Given the description of an element on the screen output the (x, y) to click on. 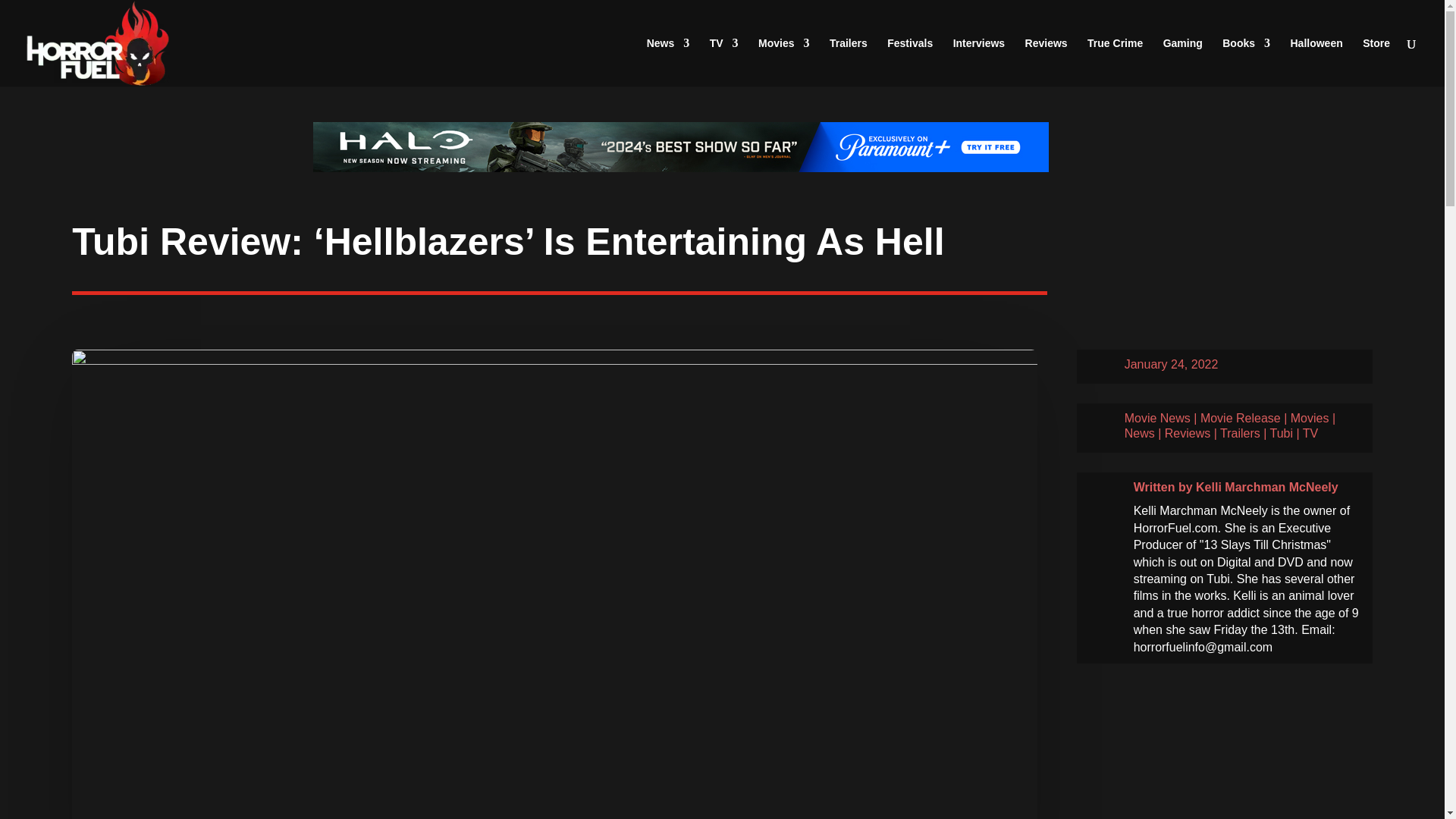
News (668, 61)
Festivals (909, 61)
Movies (783, 61)
